Given the description of an element on the screen output the (x, y) to click on. 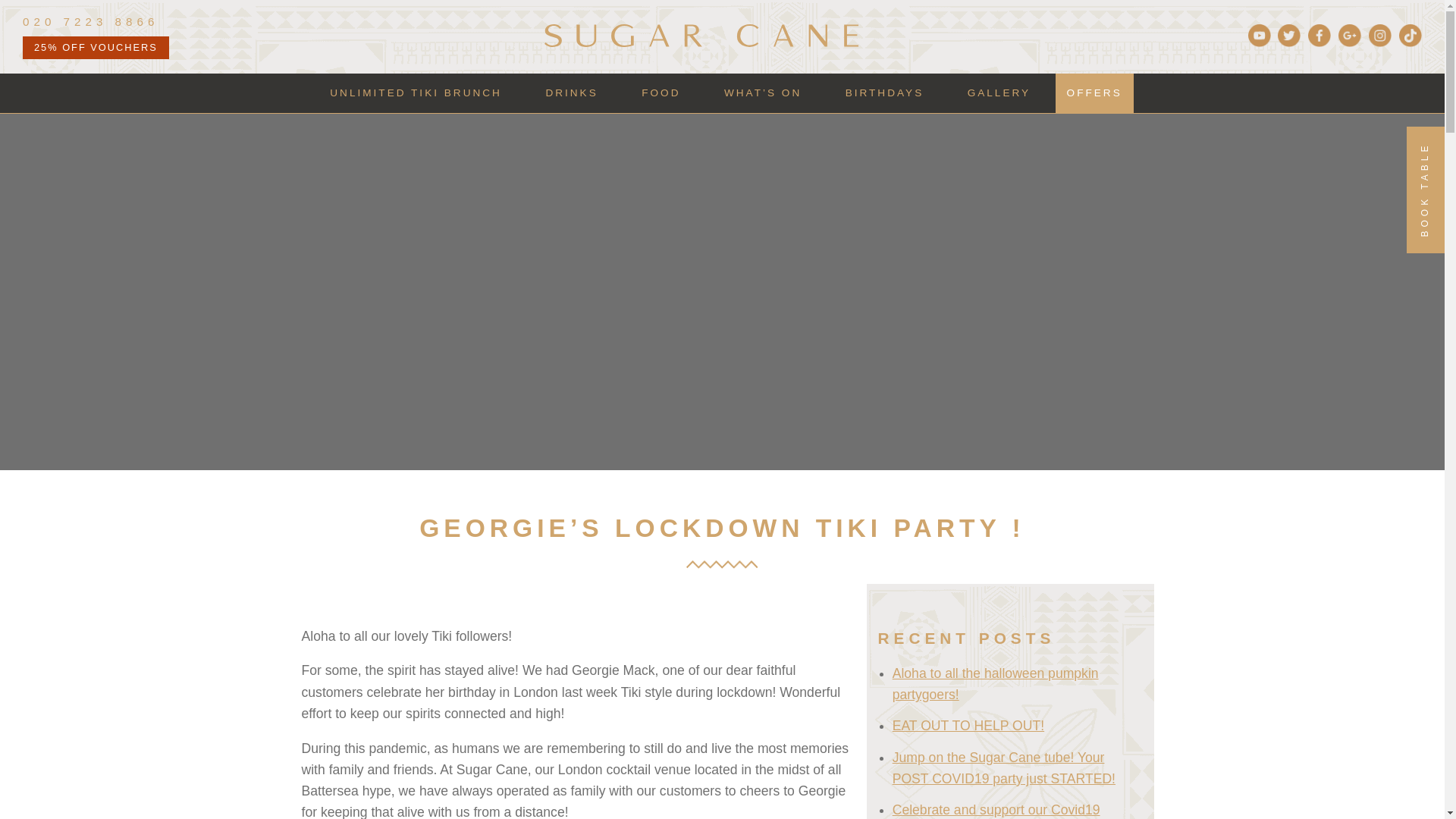
UNLIMITED TIKI BRUNCH (415, 93)
020 7223 8866 (109, 22)
OFFERS (1094, 93)
Sugar Cane Twitter feed (1287, 42)
BIRTHDAYS (885, 93)
Sugar Cane Facebook page (1317, 42)
Sugar Cane Instagram page (1378, 42)
Sugar Cane TikTok feed (1408, 42)
Sugar Cane YouTube channel (1257, 42)
GALLERY (999, 93)
